Given the description of an element on the screen output the (x, y) to click on. 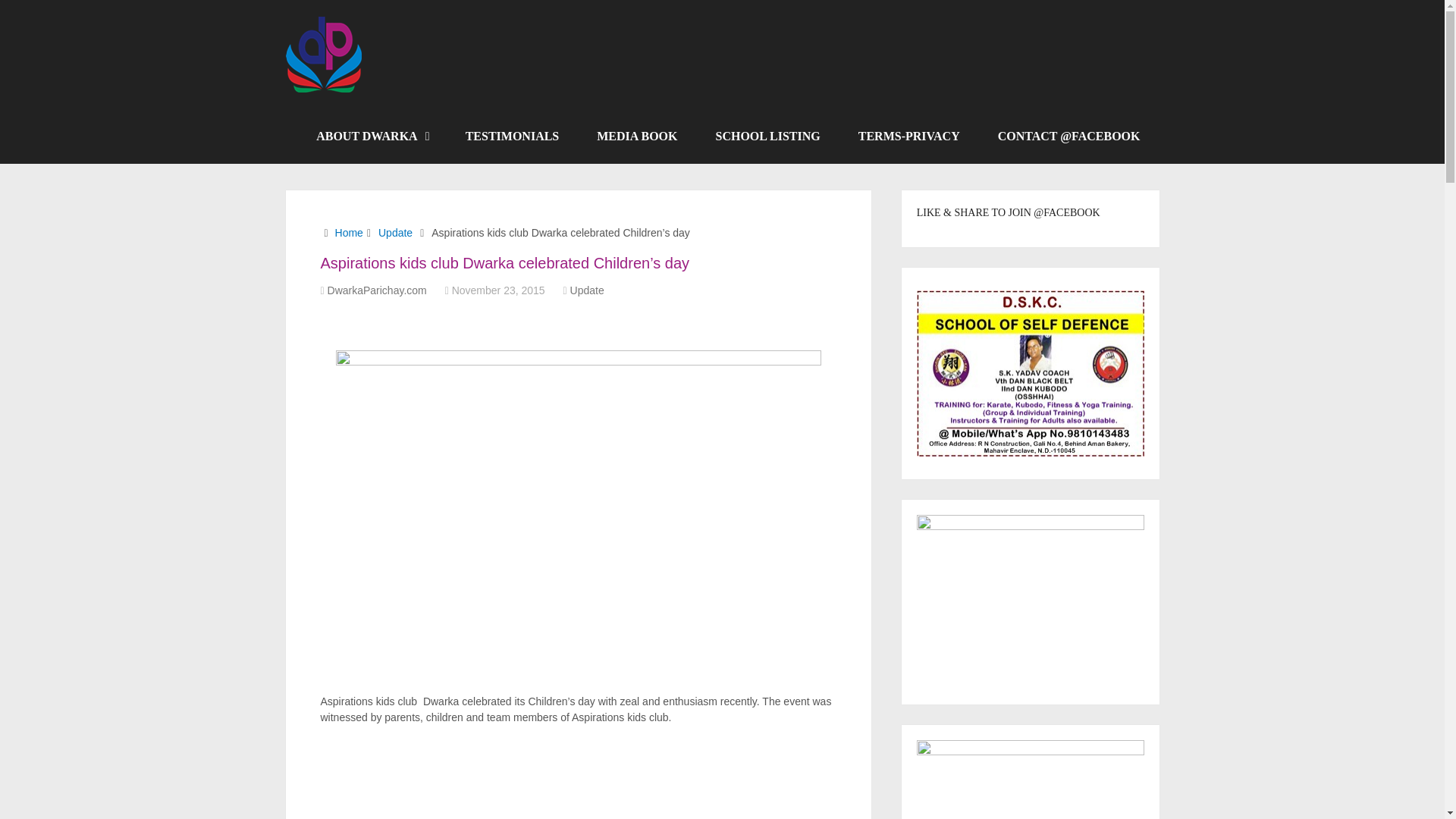
MEDIA BOOK (636, 135)
ABOUT DWARKA (371, 135)
TERMS-PRIVACY (909, 135)
DwarkaParichay.com (376, 290)
TESTIMONIALS (512, 135)
Home (348, 232)
SCHOOL LISTING (766, 135)
Posts by DwarkaParichay.com (376, 290)
View all posts in Update (587, 290)
Update (587, 290)
